Given the description of an element on the screen output the (x, y) to click on. 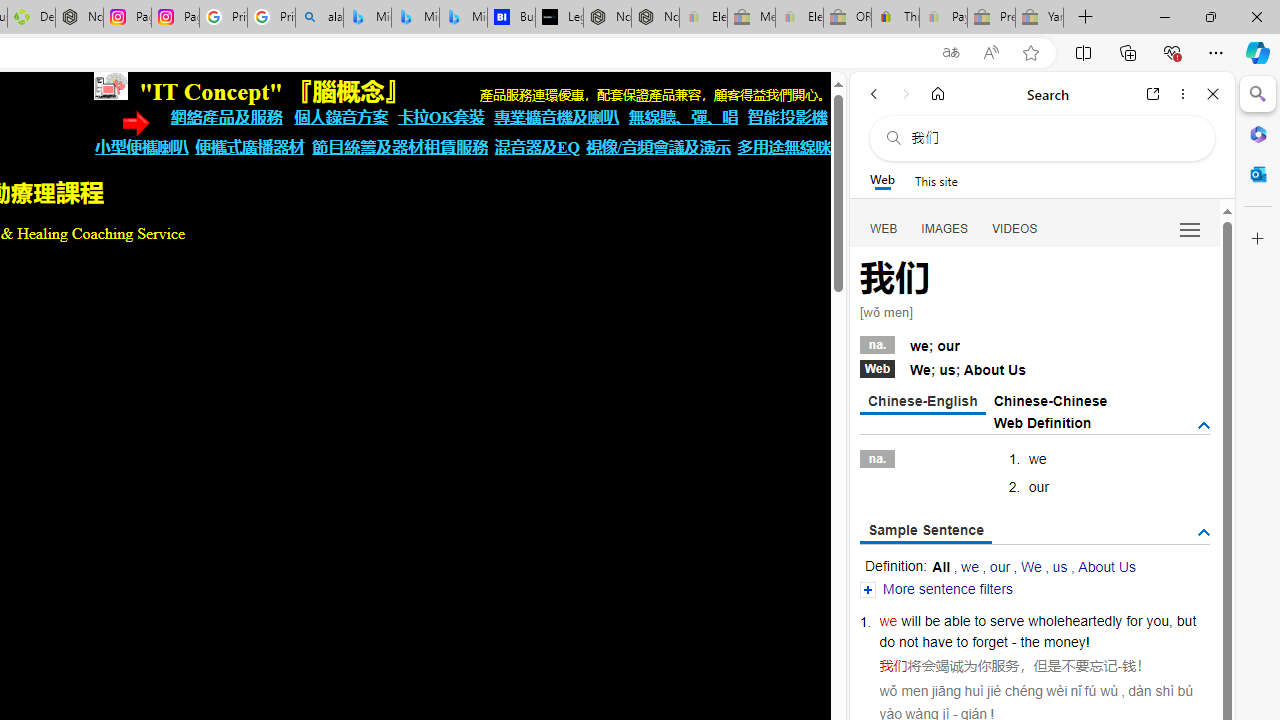
Outlook (1258, 174)
Forward (906, 93)
Threats and offensive language policy | eBay (895, 17)
